Given the description of an element on the screen output the (x, y) to click on. 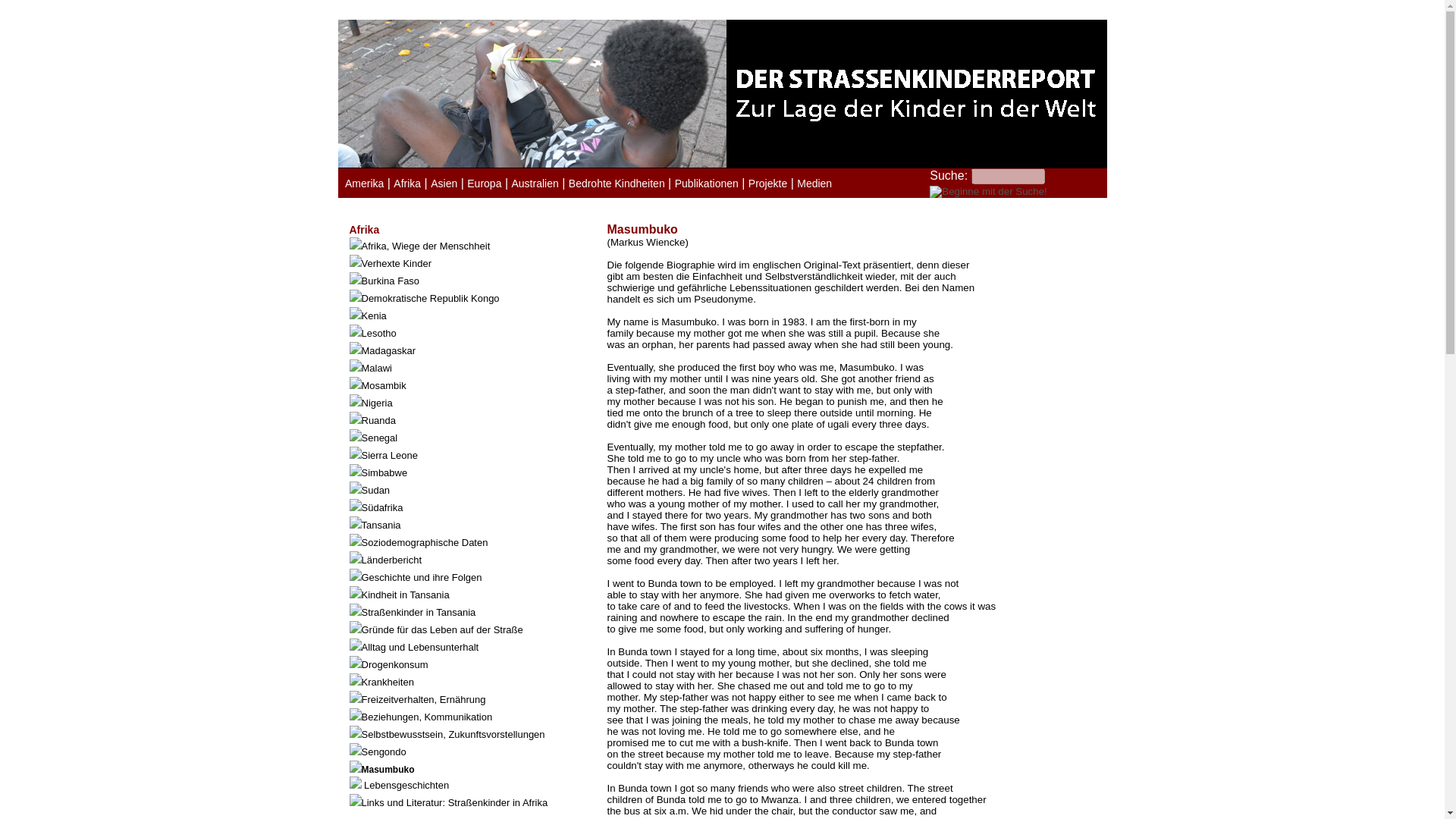
Alltag und Lebensunterhalt (466, 646)
Europa (483, 183)
Burkina Faso (466, 279)
Drogenkonsum (466, 663)
Lesotho (466, 332)
Selbstbewusstsein, Zukunftsvorstellungen (466, 733)
Publikationen (706, 183)
Mosambik (466, 384)
Afrika (406, 183)
Bedrohte Kindheiten (617, 183)
